Given the description of an element on the screen output the (x, y) to click on. 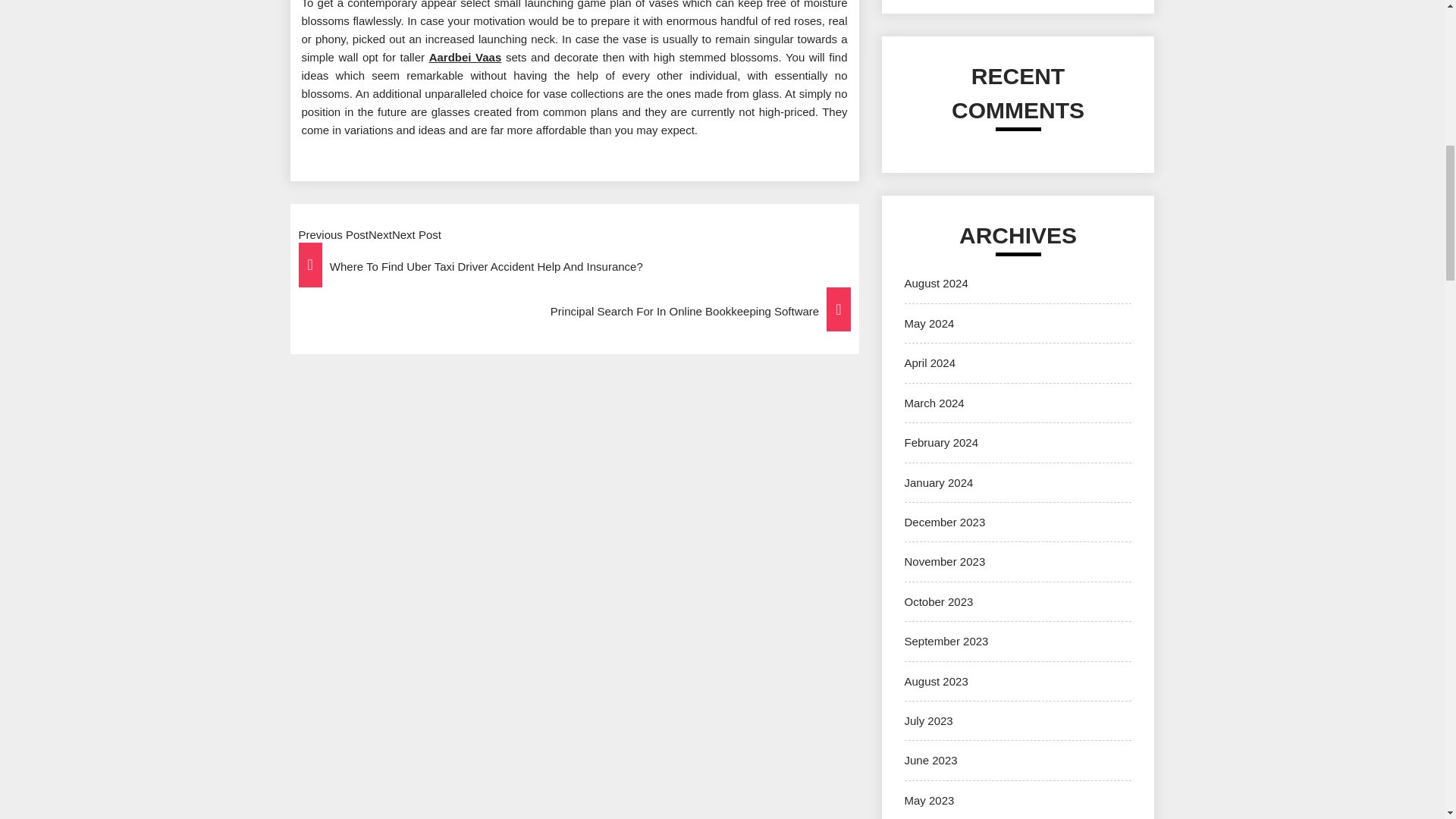
October 2023 (938, 601)
Aardbei Vaas (465, 56)
January 2024 (938, 481)
September 2023 (946, 640)
August 2024 (936, 282)
May 2023 (928, 799)
May 2024 (928, 323)
July 2023 (928, 720)
November 2023 (944, 561)
August 2023 (936, 680)
